Given the description of an element on the screen output the (x, y) to click on. 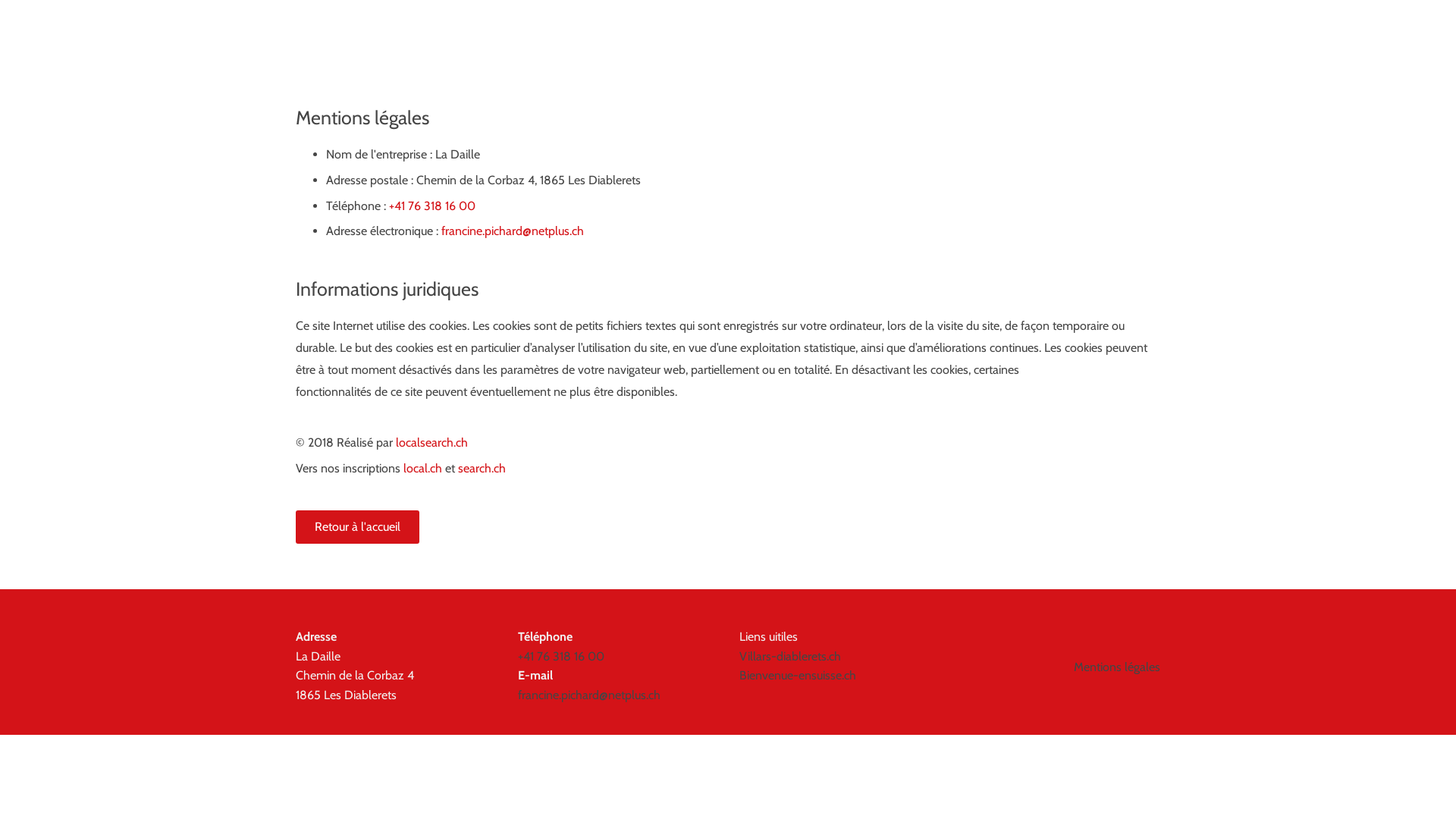
search.ch Element type: text (481, 468)
+41 76 318 16 00 Element type: text (560, 656)
Villars-diablerets.ch Element type: text (789, 656)
francine.pichard@netplus.ch Element type: text (588, 694)
francine.pichard@netplus.ch Element type: text (512, 230)
Bienvenue-ensuisse.ch Element type: text (797, 675)
+41 76 318 16 00 Element type: text (432, 205)
local.ch Element type: text (422, 468)
localsearch.ch Element type: text (431, 442)
